Given the description of an element on the screen output the (x, y) to click on. 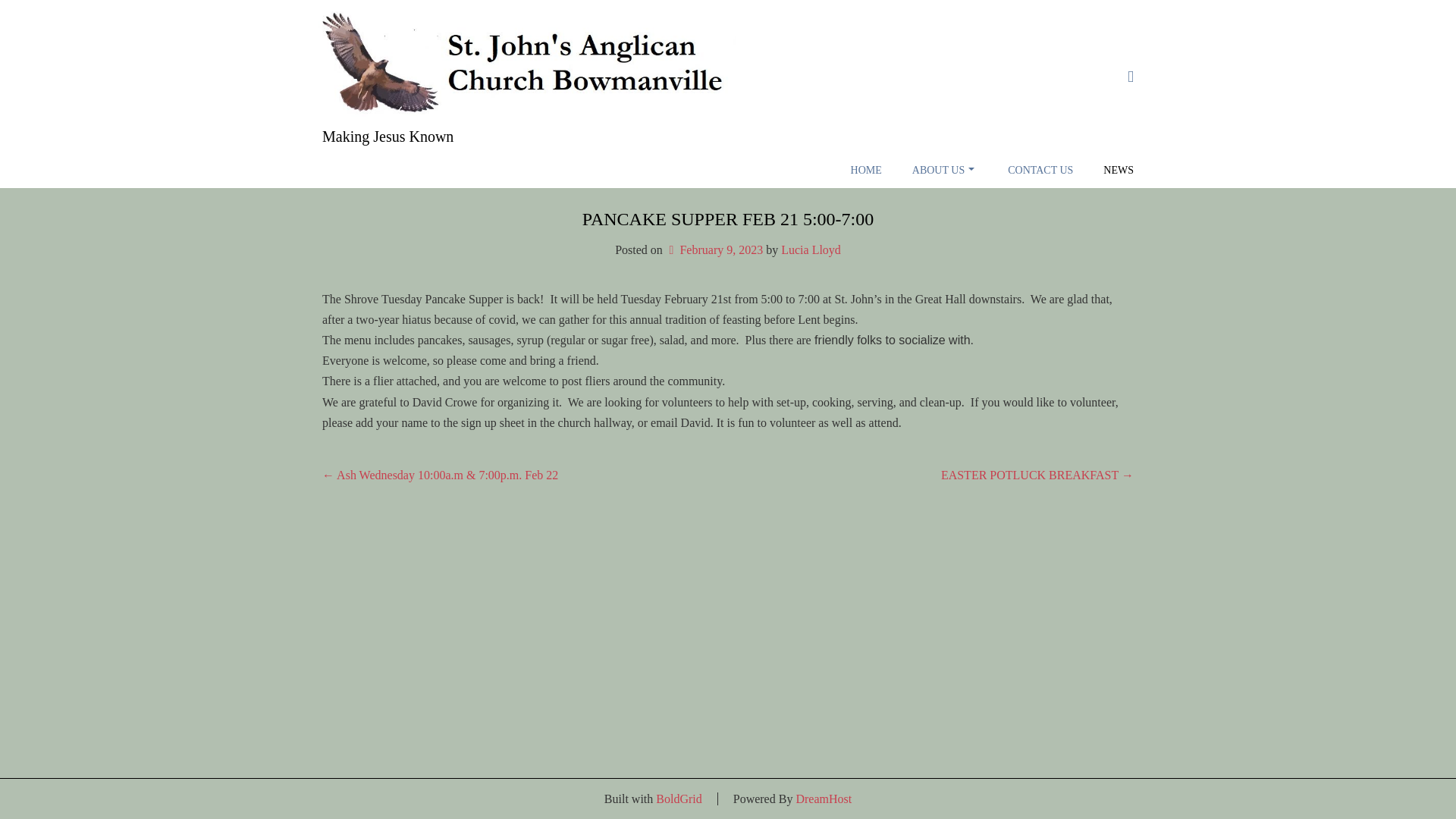
NEWS (1117, 170)
DreamHost (822, 798)
PANCAKE SUPPER FEB 21 5:00-7:00 (728, 219)
February 9, 2023 (713, 249)
Lucia Lloyd (810, 249)
CONTACT US (1039, 170)
facebook (1130, 76)
ABOUT US (944, 170)
BoldGrid (678, 798)
HOME (865, 170)
